Given the description of an element on the screen output the (x, y) to click on. 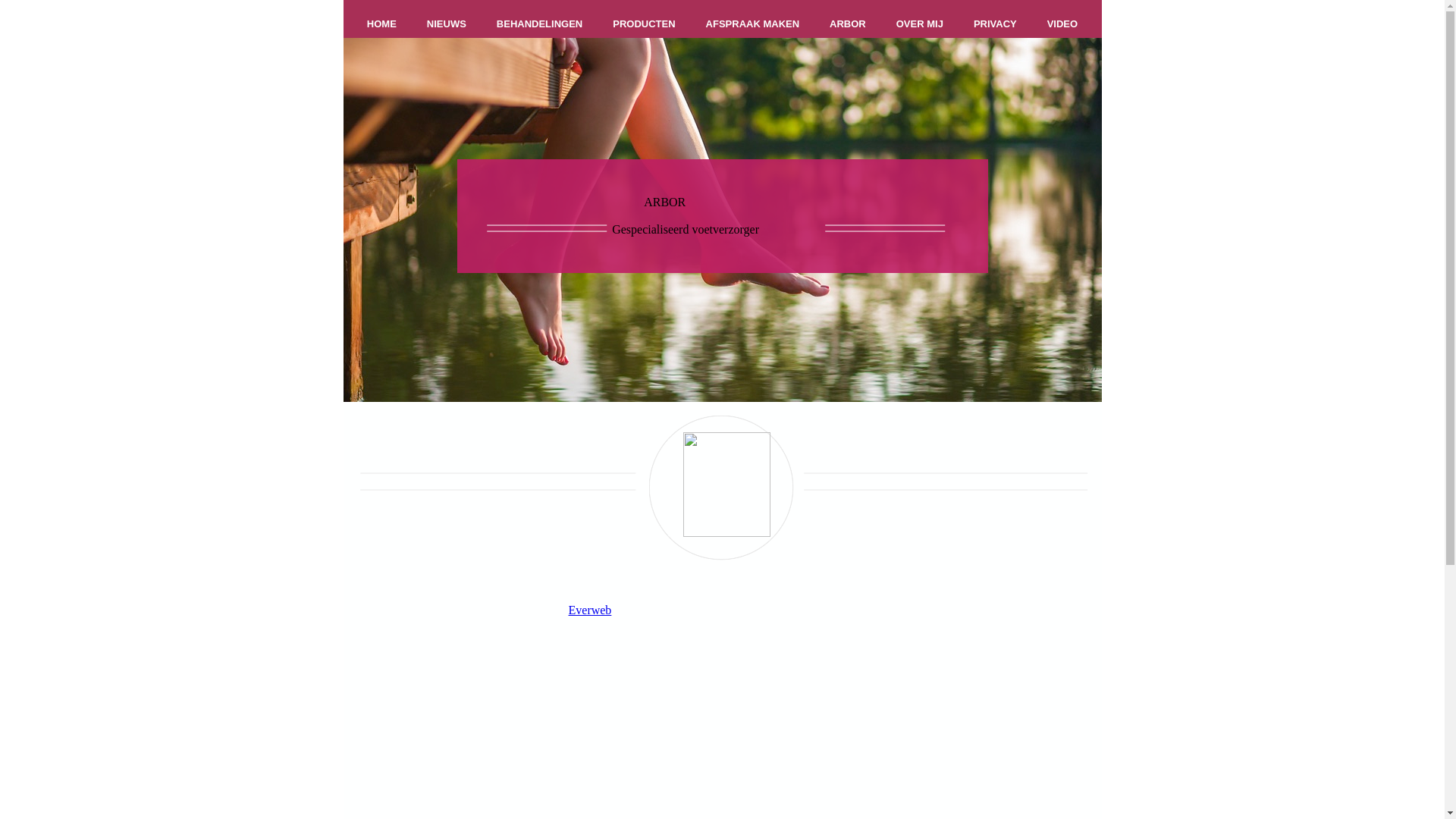
AFSPRAAK MAKEN Element type: text (753, 23)
HOME Element type: text (381, 23)
PRODUCTEN Element type: text (643, 23)
OVER MIJ Element type: text (919, 23)
Everweb Element type: text (589, 609)
PRIVACY Element type: text (994, 23)
VIDEO Element type: text (1062, 23)
NIEUWS Element type: text (446, 23)
BEHANDELINGEN Element type: text (539, 23)
ARBOR Element type: text (847, 23)
